Given the description of an element on the screen output the (x, y) to click on. 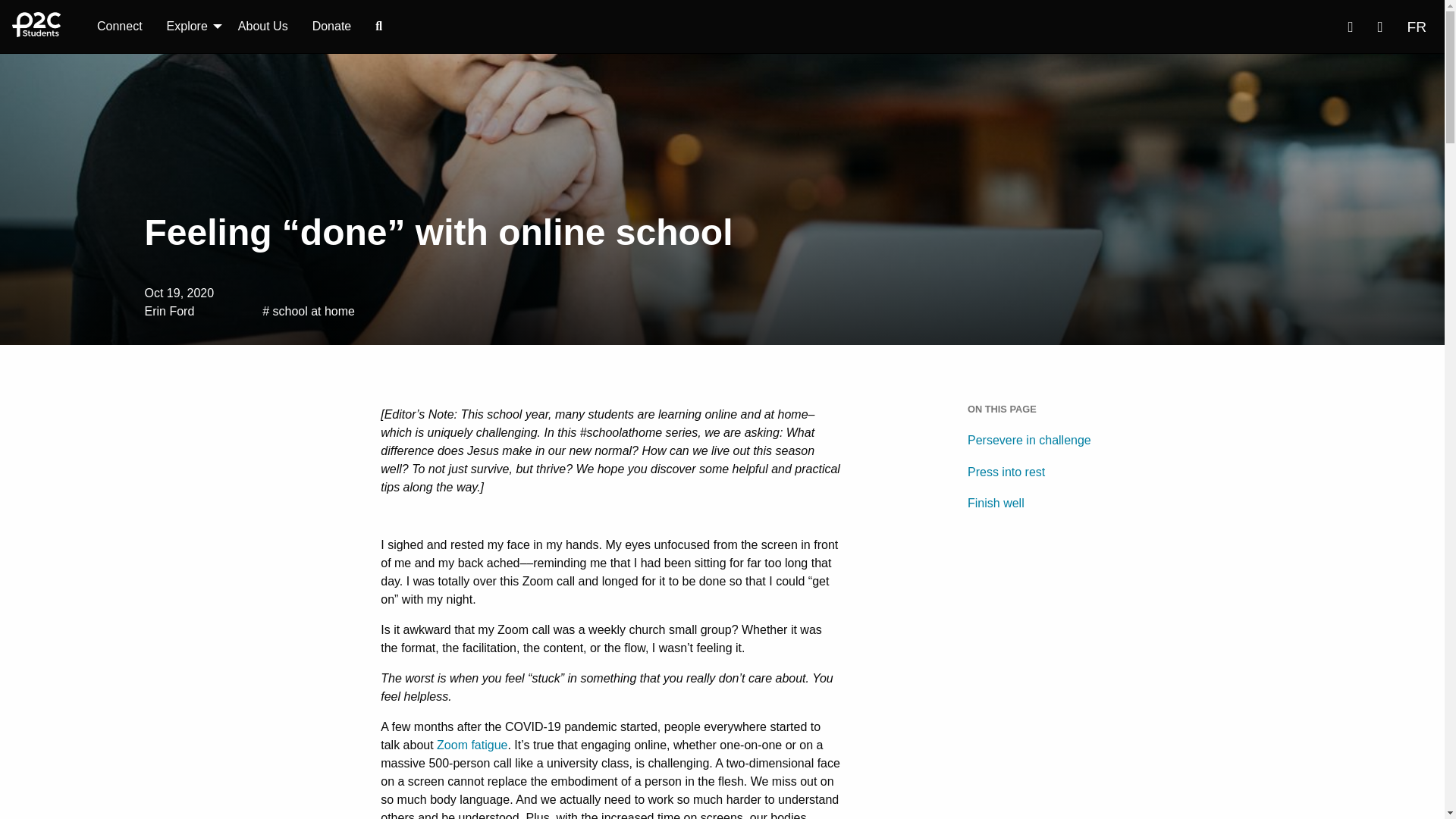
school at home (313, 310)
Finish well (1054, 503)
Press into rest (1054, 471)
Donate (331, 26)
Zoom fatigue (471, 744)
Persevere in challenge (1054, 440)
Search (378, 26)
FR (1416, 26)
About Us (262, 26)
Connect (119, 26)
Explore (189, 26)
Instagram (1379, 26)
Facebook (1350, 26)
